Given the description of an element on the screen output the (x, y) to click on. 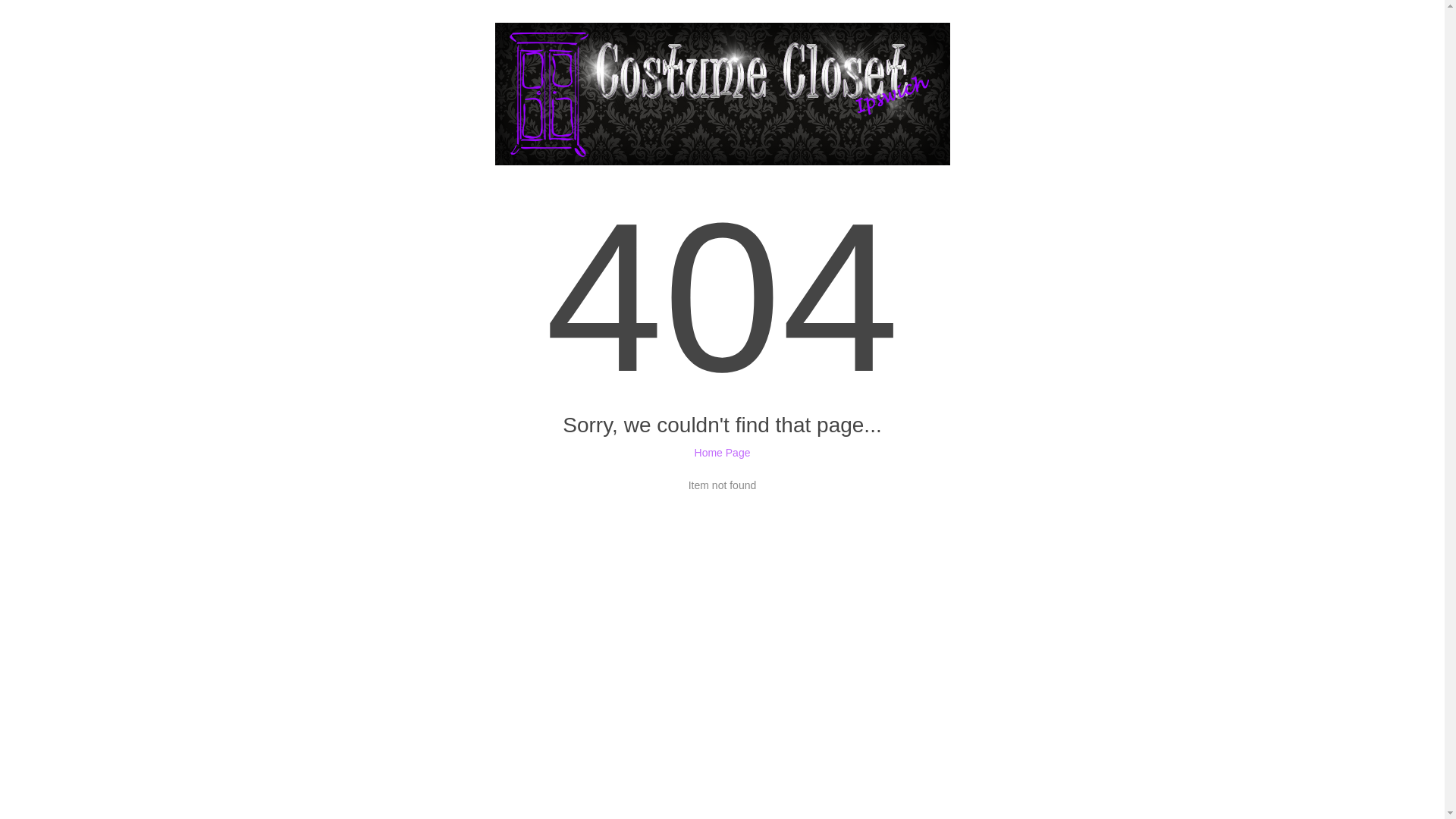
Home Page Element type: text (722, 452)
